Given the description of an element on the screen output the (x, y) to click on. 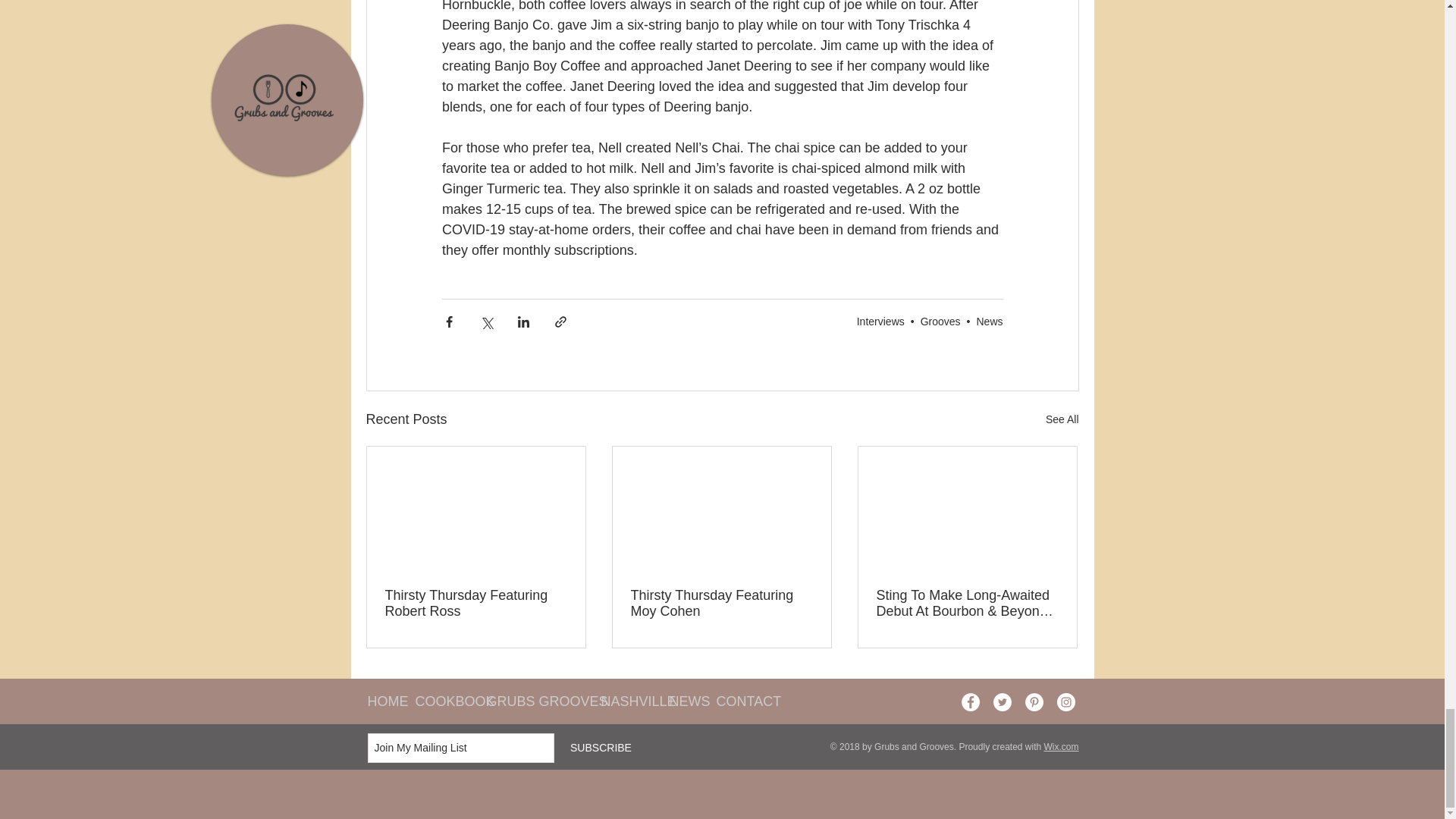
News (989, 321)
Interviews (880, 321)
Thirsty Thursday Featuring Moy Cohen (721, 603)
Grooves (940, 321)
See All (1061, 419)
Thirsty Thursday Featuring Robert Ross (476, 603)
